Given the description of an element on the screen output the (x, y) to click on. 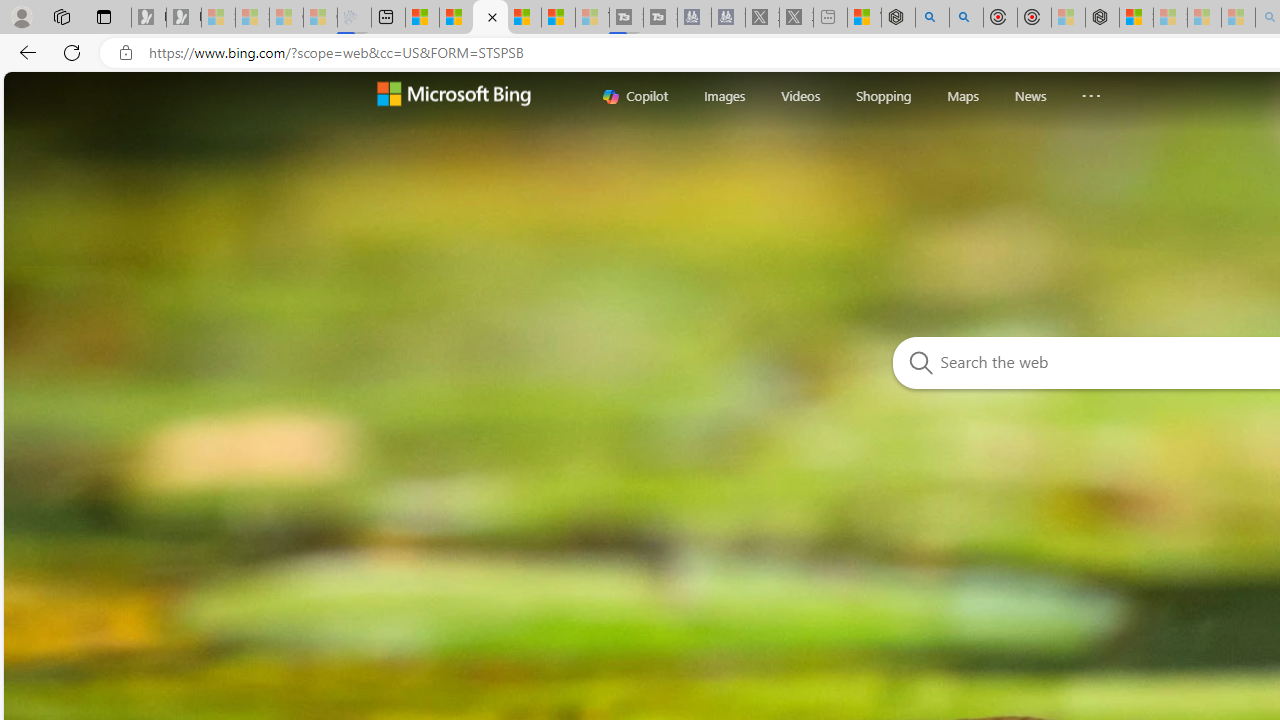
Videos (800, 95)
Newsletter Sign Up - Sleeping (183, 17)
Maps (963, 95)
Nordace - Nordace Siena Is Not An Ordinary Backpack (1101, 17)
New tab - Sleeping (830, 17)
Maps (963, 95)
Copilot (635, 95)
Shopping (883, 95)
Copilot (635, 95)
